Given the description of an element on the screen output the (x, y) to click on. 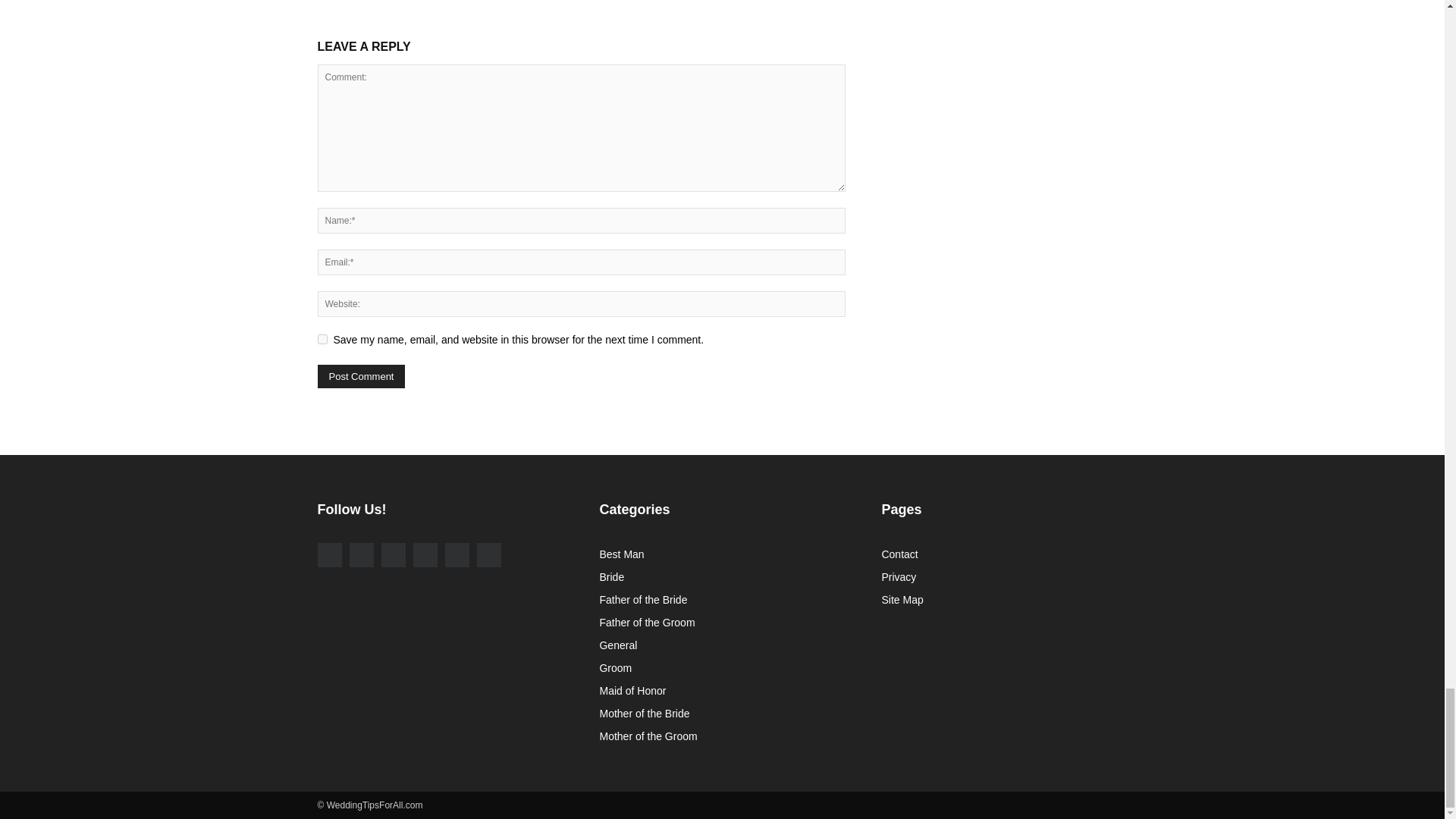
Follow Us on Twitter (392, 554)
yes (321, 338)
Follow Us on Facebook (328, 554)
Post Comment (360, 376)
